Given the description of an element on the screen output the (x, y) to click on. 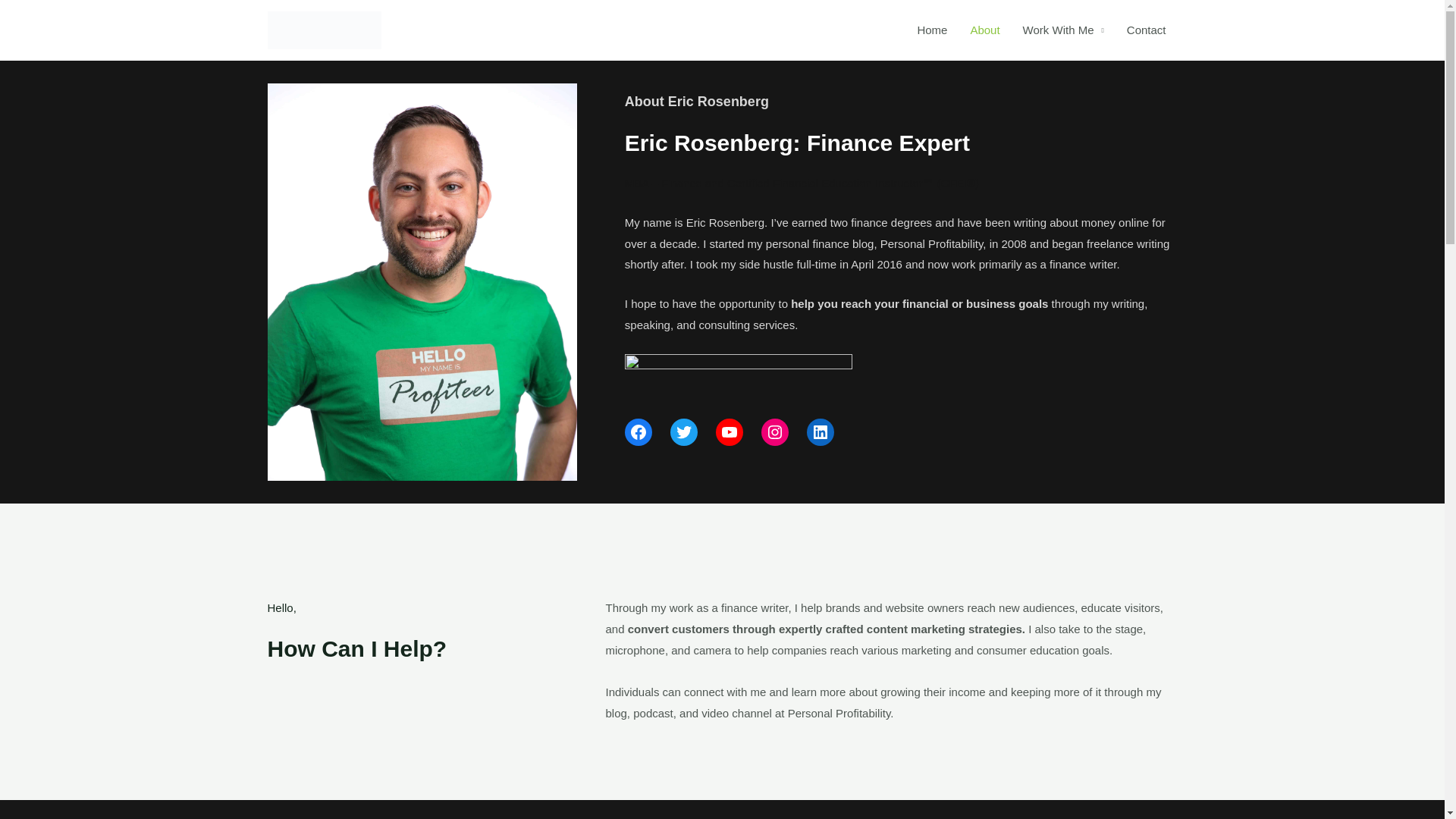
Instagram (775, 431)
Contact (1146, 30)
Facebook (638, 431)
Work With Me (1063, 30)
YouTube (729, 431)
Twitter (683, 431)
LinkedIn (820, 431)
